Given the description of an element on the screen output the (x, y) to click on. 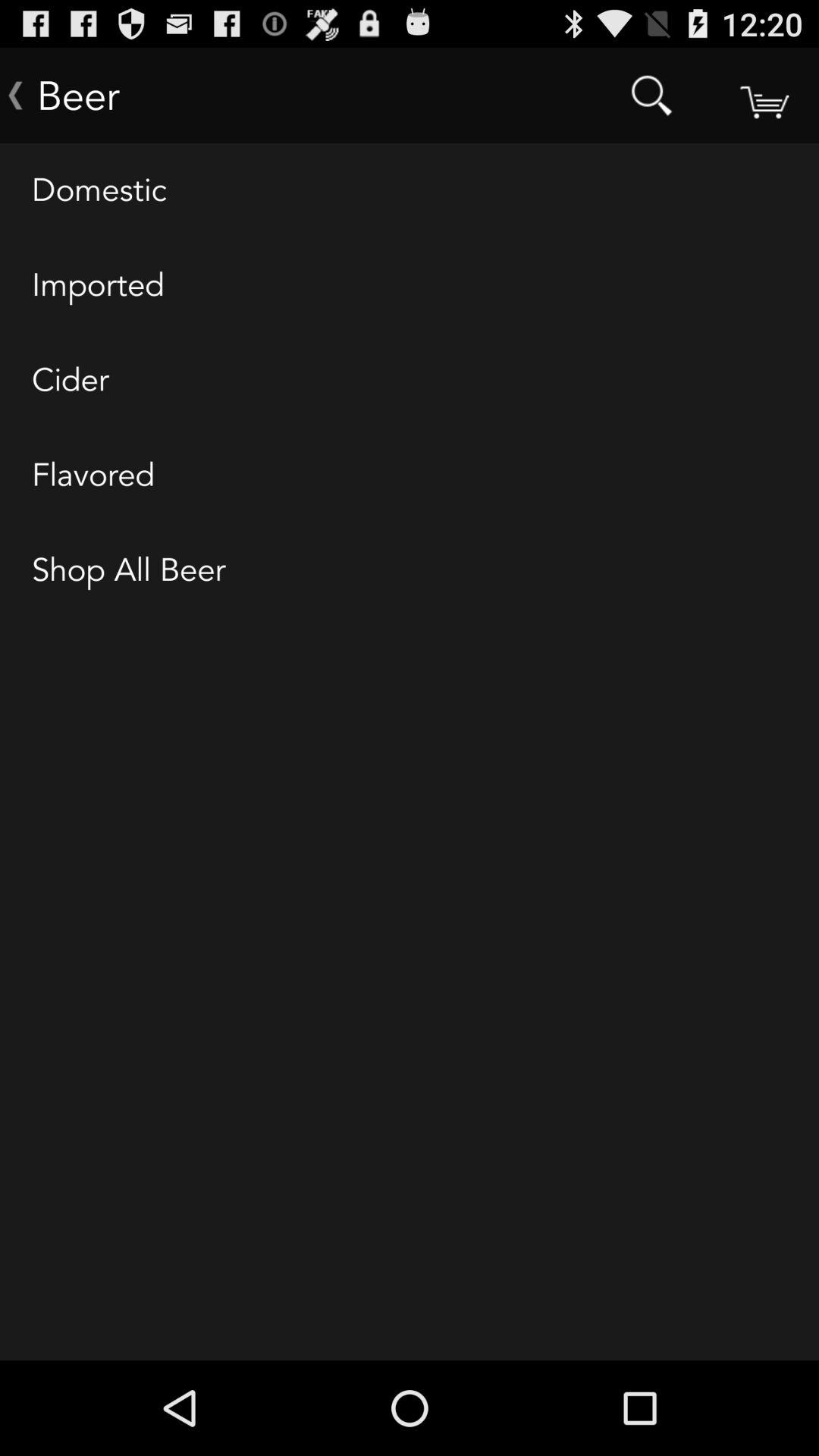
click the icon above domestic item (763, 95)
